Given the description of an element on the screen output the (x, y) to click on. 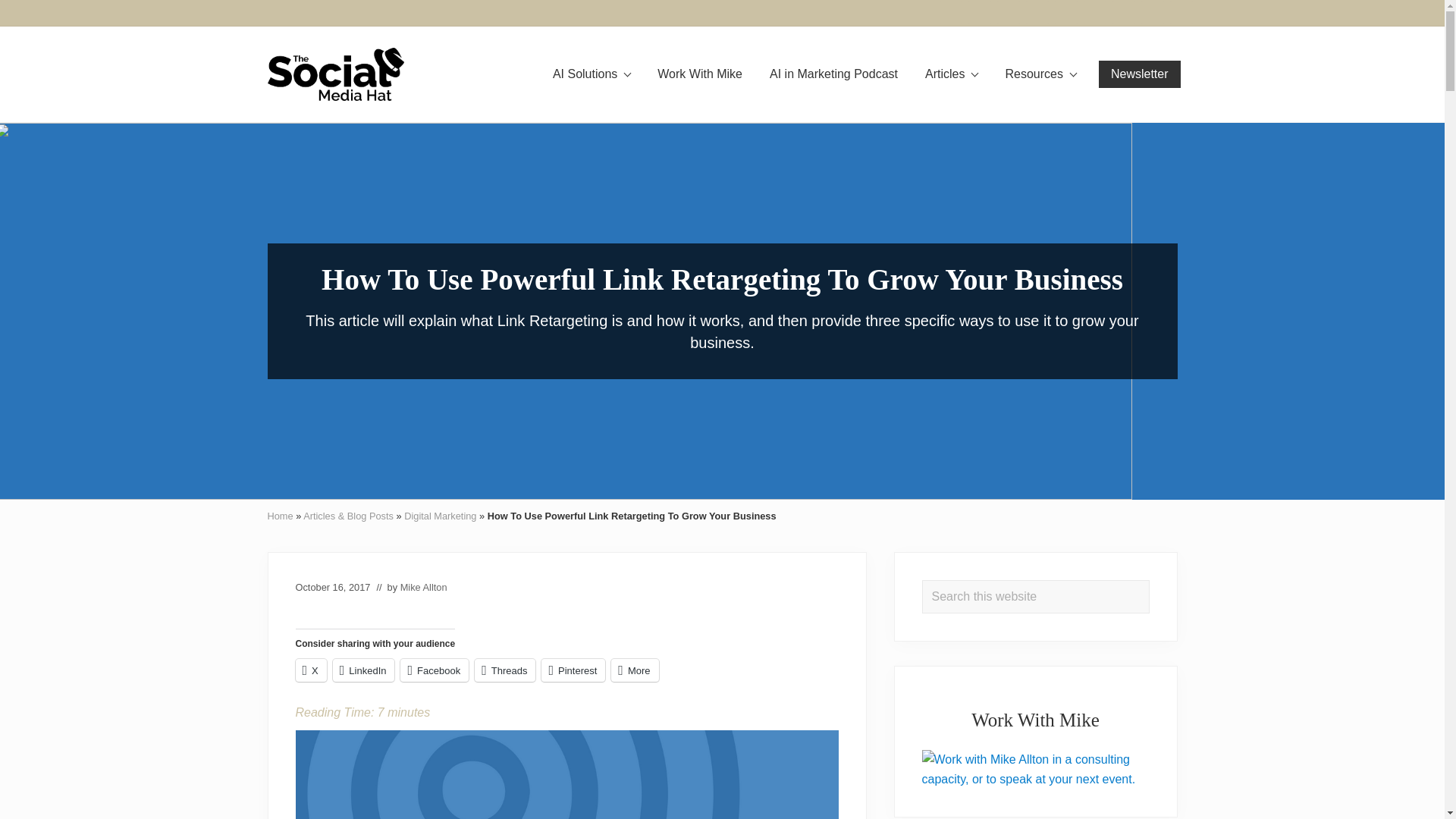
Articles (951, 73)
Facebook (949, 12)
Instagram (978, 12)
YouTube (1180, 12)
YouTube (1180, 12)
AI in Marketing Podcast (833, 73)
Twitter (1151, 12)
Pinterest (1036, 12)
Click to share on LinkedIn (363, 670)
